Given the description of an element on the screen output the (x, y) to click on. 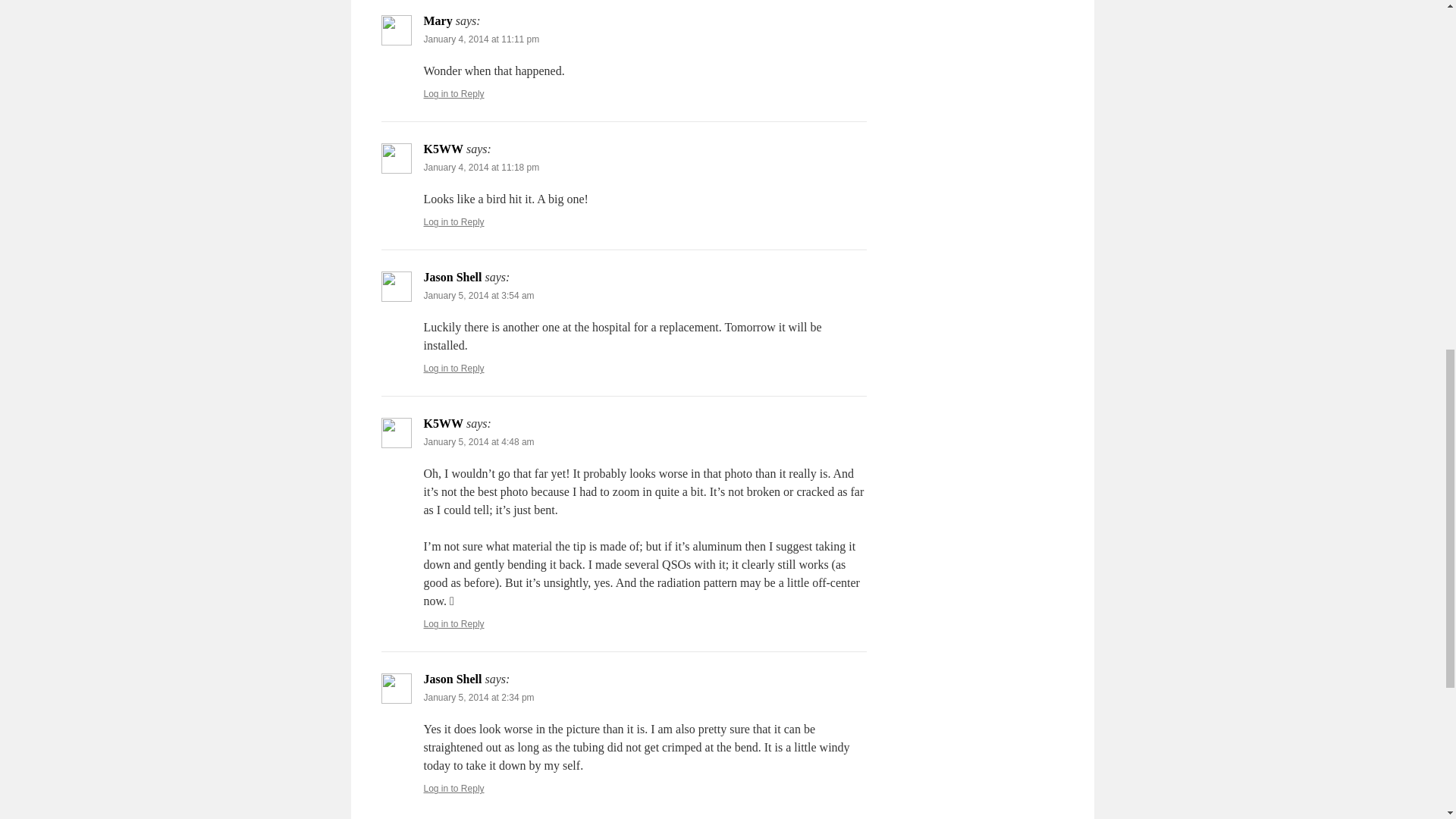
Log in to Reply (453, 93)
January 4, 2014 at 11:11 pm (480, 39)
January 4, 2014 at 11:18 pm (480, 167)
Log in to Reply (453, 624)
Log in to Reply (453, 368)
Log in to Reply (453, 787)
Log in to Reply (453, 222)
January 5, 2014 at 2:34 pm (478, 697)
January 5, 2014 at 4:48 am (478, 441)
January 5, 2014 at 3:54 am (478, 295)
